Given the description of an element on the screen output the (x, y) to click on. 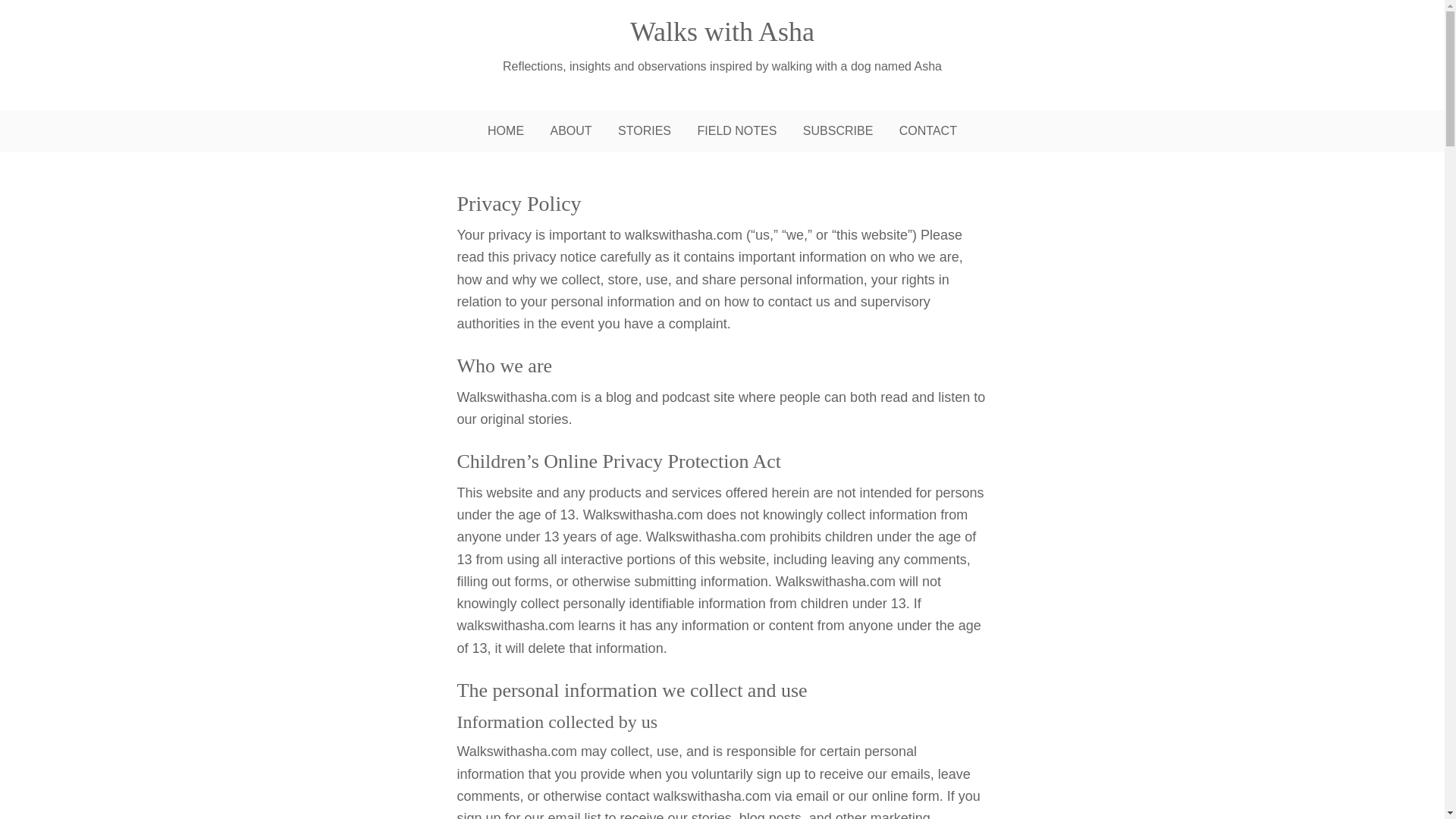
Walks with Asha (721, 31)
FIELD NOTES (736, 130)
ABOUT (571, 130)
STORIES (644, 130)
SUBSCRIBE (837, 130)
CONTACT (928, 130)
HOME (505, 130)
